Given the description of an element on the screen output the (x, y) to click on. 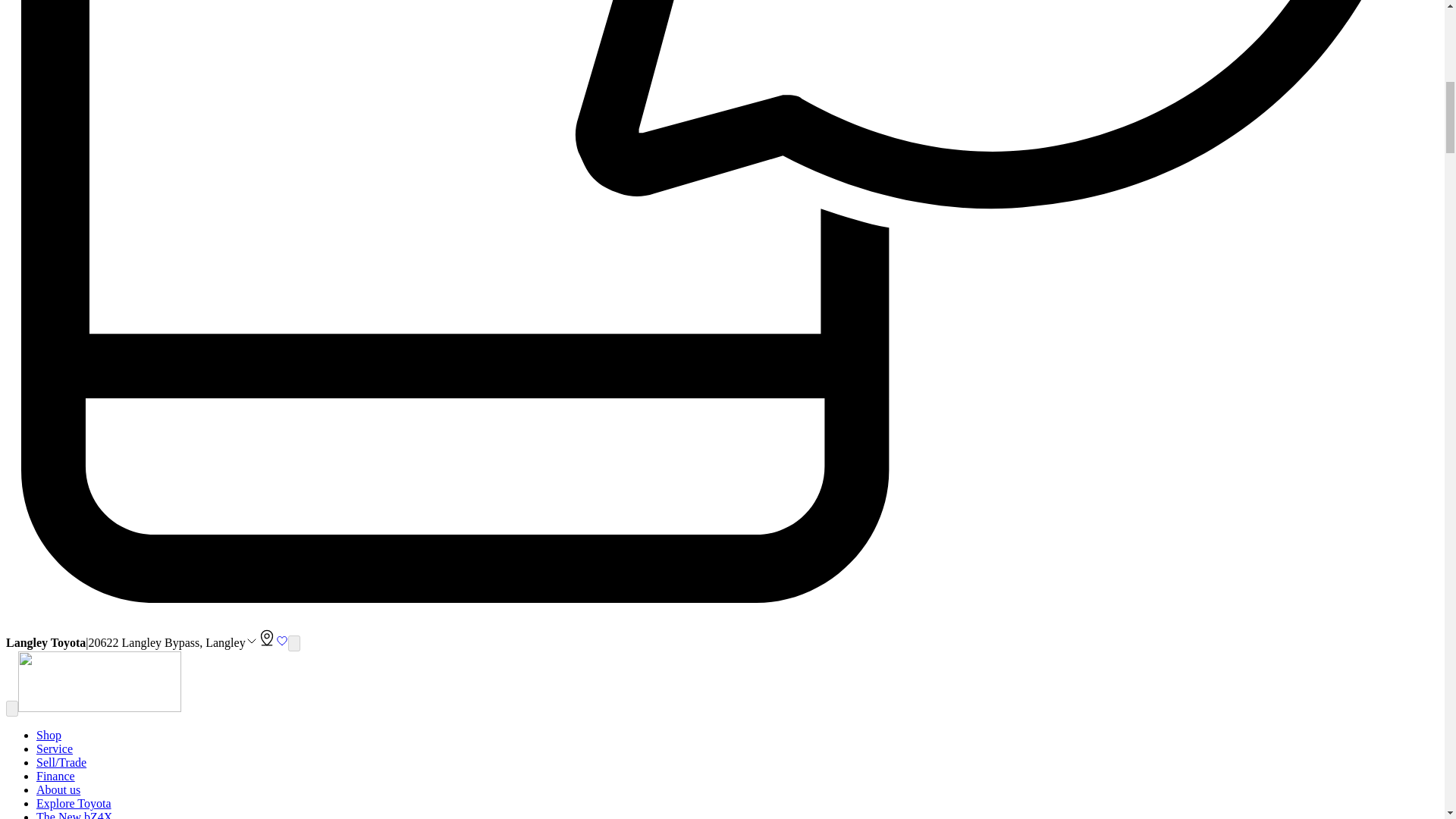
About us (58, 789)
Finance (55, 775)
Service (54, 748)
Shop (48, 735)
Explore Toyota (74, 802)
The New bZ4X (74, 814)
